Given the description of an element on the screen output the (x, y) to click on. 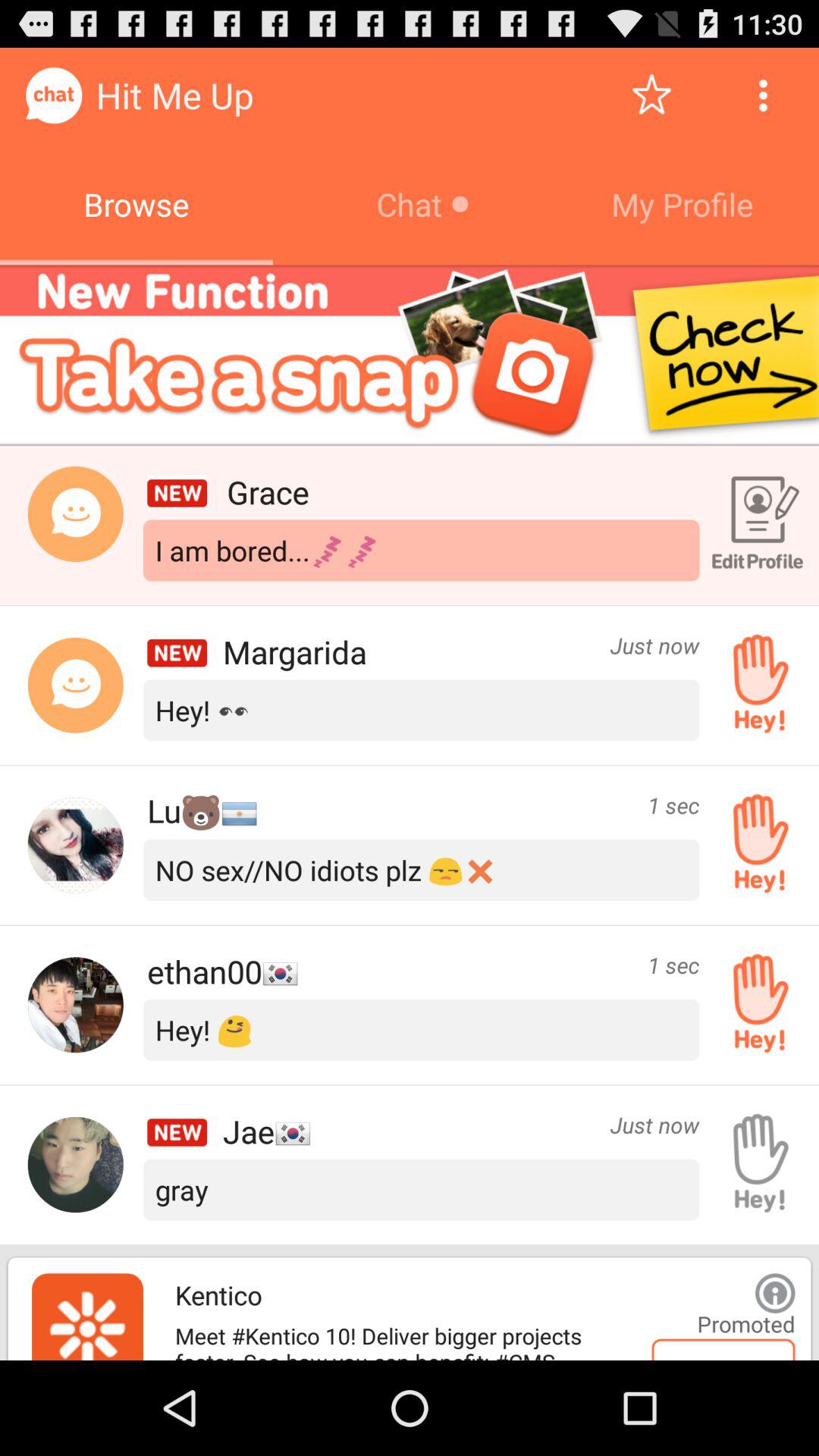
advertisement (775, 1293)
